Given the description of an element on the screen output the (x, y) to click on. 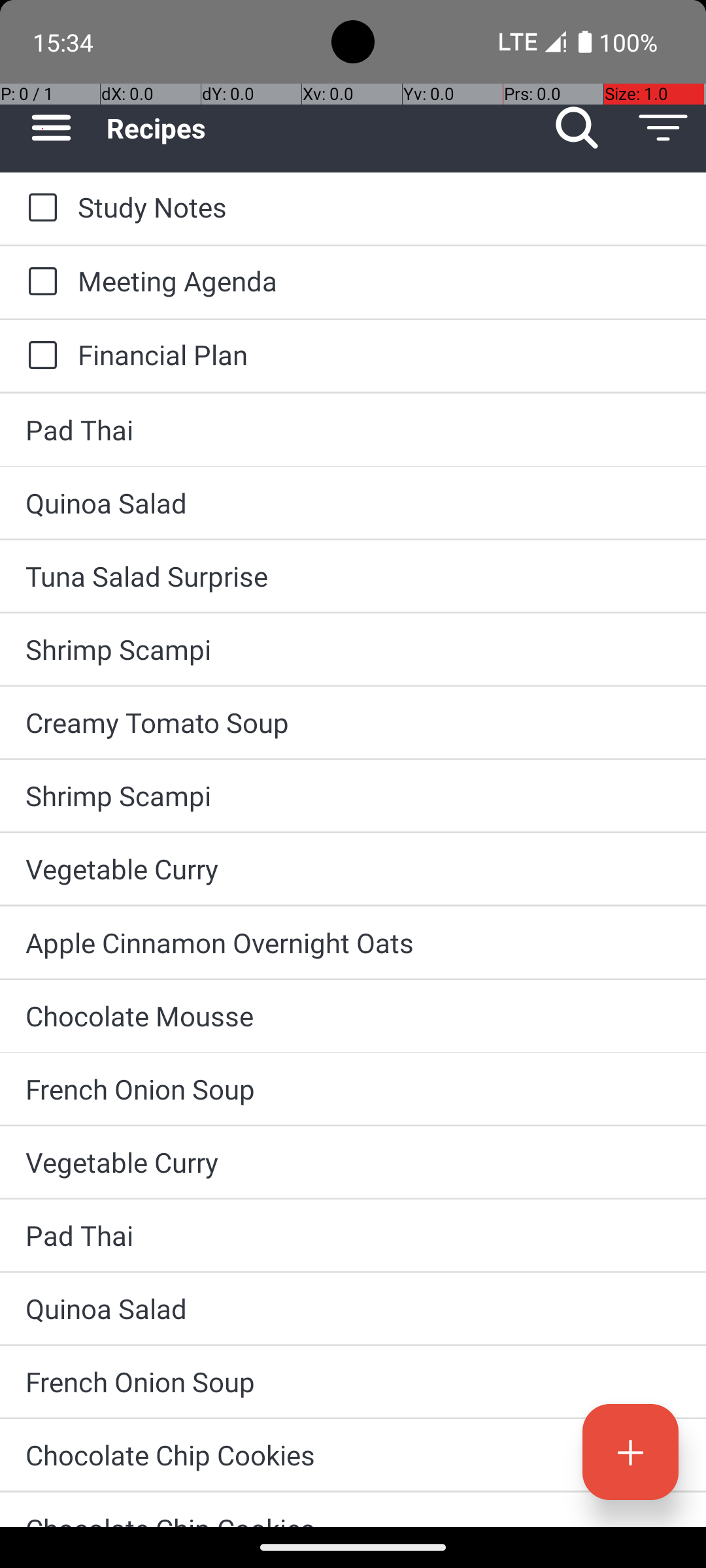
to-do: Study Notes Element type: android.widget.CheckBox (38, 208)
Study Notes Element type: android.widget.TextView (378, 206)
to-do: Meeting Agenda Element type: android.widget.CheckBox (38, 282)
Meeting Agenda Element type: android.widget.TextView (378, 280)
to-do: Financial Plan Element type: android.widget.CheckBox (38, 356)
Financial Plan Element type: android.widget.TextView (378, 354)
Pad Thai Element type: android.widget.TextView (352, 429)
Quinoa Salad Element type: android.widget.TextView (352, 502)
Tuna Salad Surprise Element type: android.widget.TextView (352, 575)
Shrimp Scampi Element type: android.widget.TextView (352, 648)
Creamy Tomato Soup Element type: android.widget.TextView (352, 721)
Vegetable Curry Element type: android.widget.TextView (352, 868)
Apple Cinnamon Overnight Oats Element type: android.widget.TextView (352, 942)
Chocolate Mousse Element type: android.widget.TextView (352, 1015)
French Onion Soup Element type: android.widget.TextView (352, 1088)
Chocolate Chip Cookies Element type: android.widget.TextView (352, 1454)
